Given the description of an element on the screen output the (x, y) to click on. 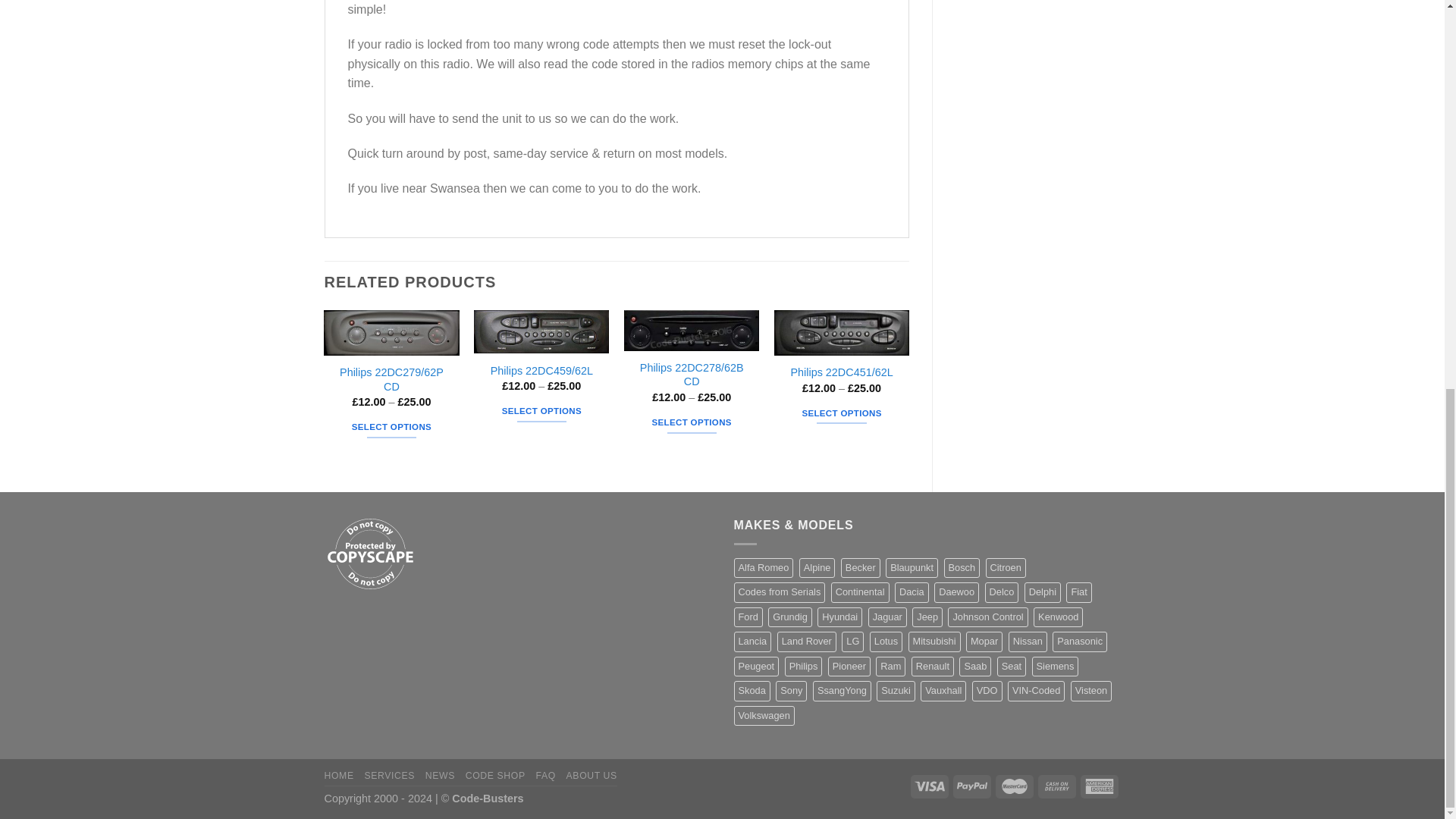
Send Enquiry (408, 463)
SELECT OPTIONS (391, 427)
